Given the description of an element on the screen output the (x, y) to click on. 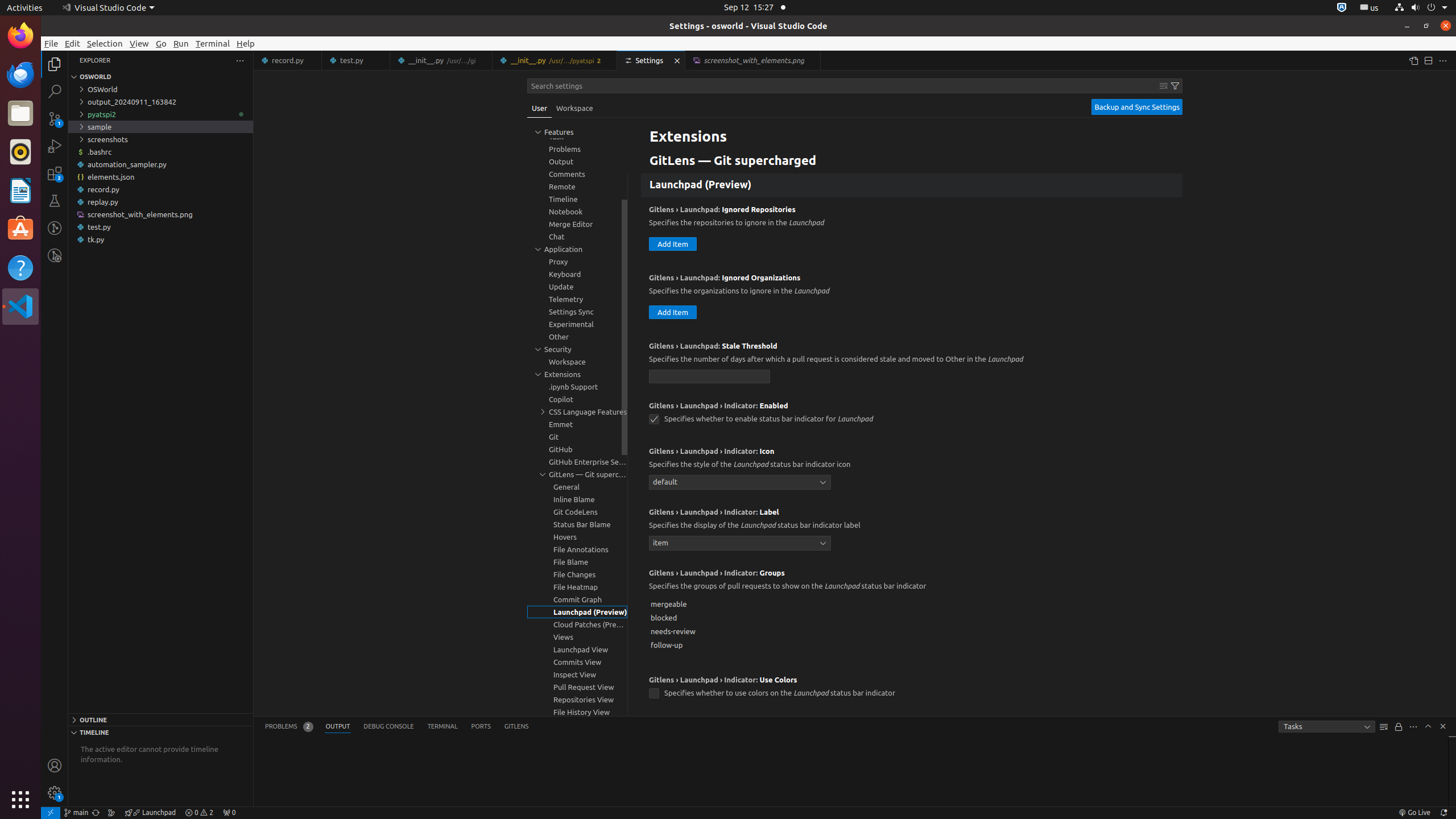
List item `mergeable` Element type: list-item (911, 603)
broadcast Go Live, Click to run live server Element type: push-button (1414, 812)
Active View Switcher Element type: page-tab-list (396, 726)
User Element type: check-box (539, 107)
